Given the description of an element on the screen output the (x, y) to click on. 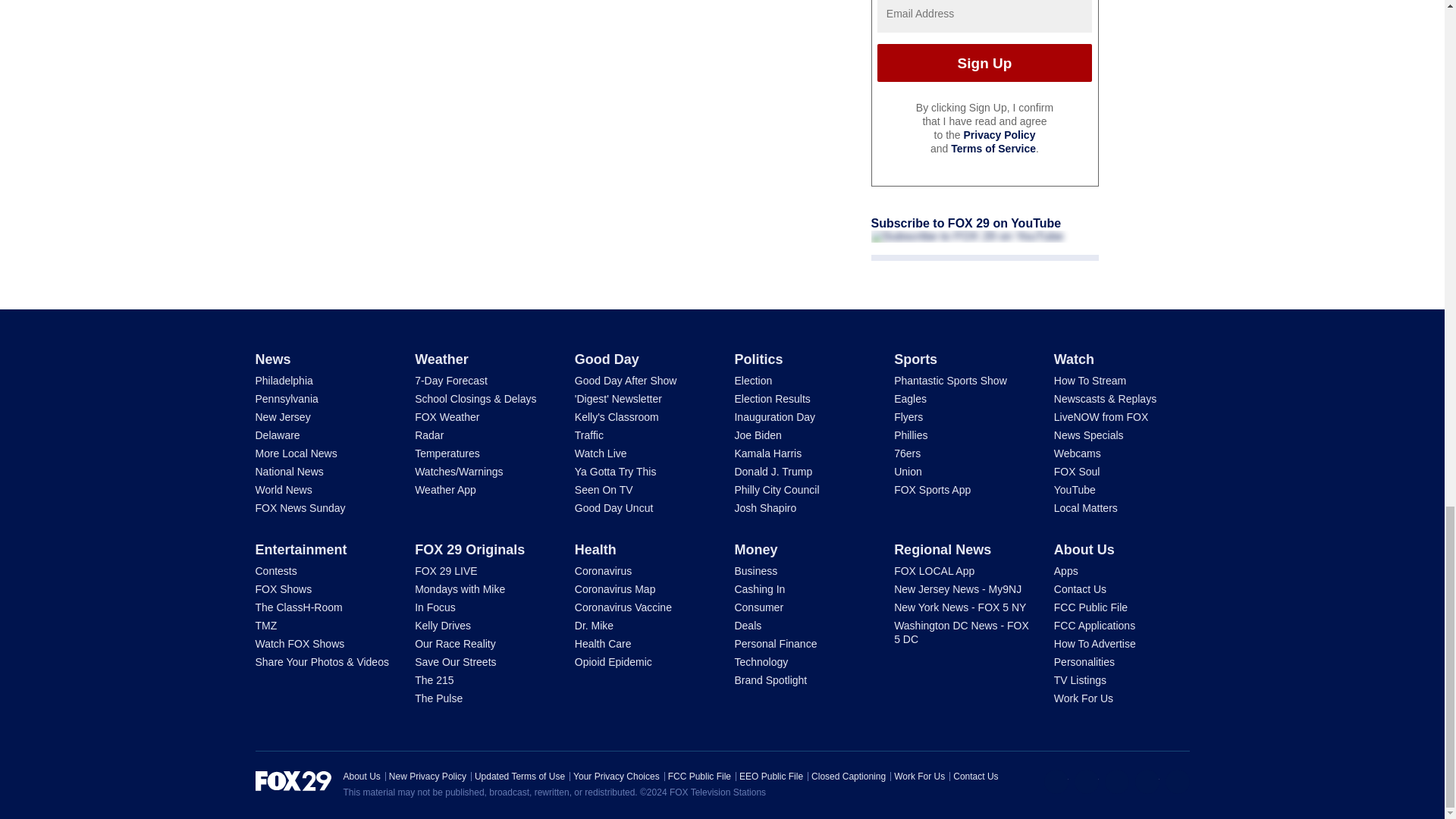
Sign Up (984, 62)
